Given the description of an element on the screen output the (x, y) to click on. 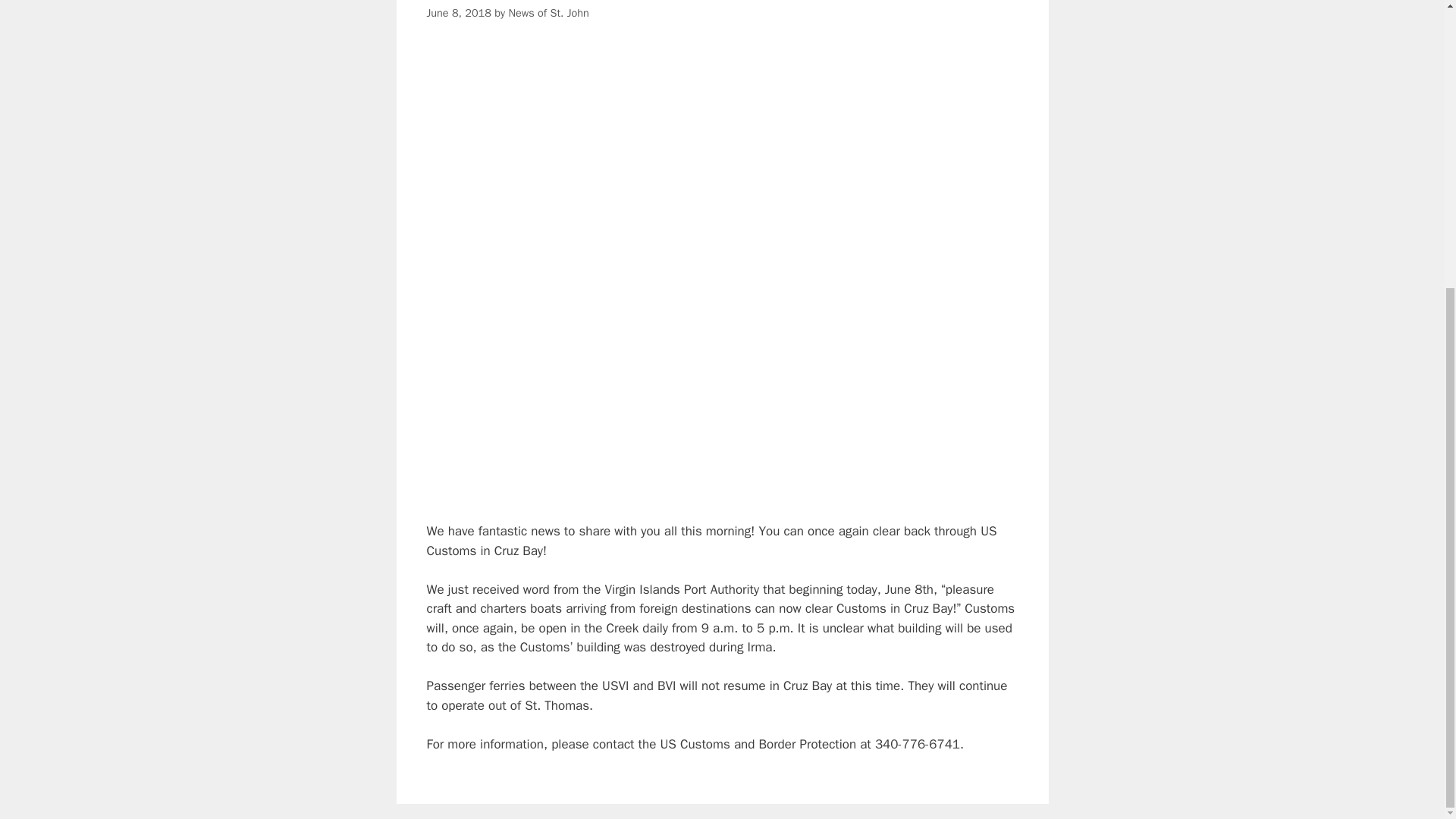
News of St. John (548, 12)
June 8, 2018 (458, 12)
10:06 am (458, 12)
View all posts by News of St. John (548, 12)
